Given the description of an element on the screen output the (x, y) to click on. 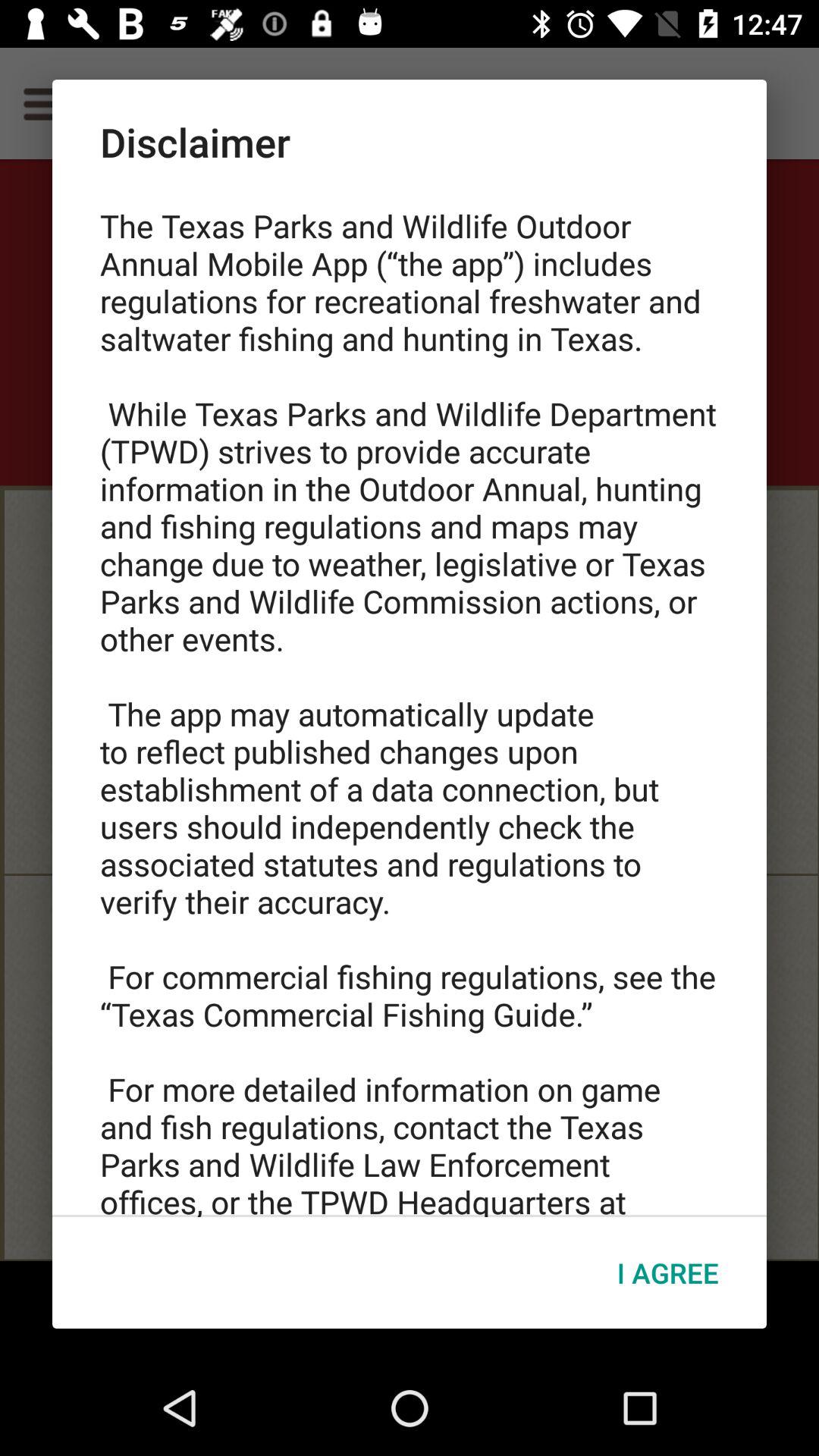
choose the app below the texas parks app (667, 1272)
